Given the description of an element on the screen output the (x, y) to click on. 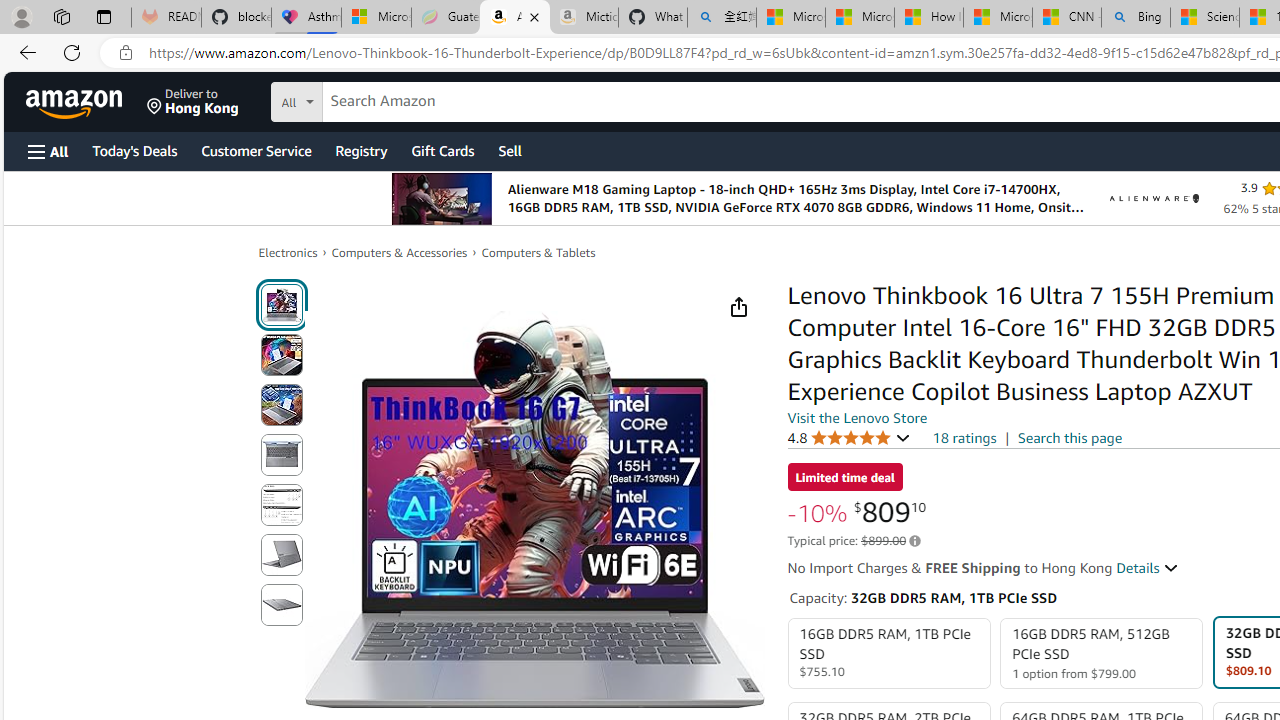
16GB DDR5 RAM, 1TB PCIe SSD $755.10 (888, 653)
Details  (1148, 568)
Amazon (76, 101)
Search this page (1069, 437)
Customer Service (256, 150)
CNN - MSN (1066, 17)
Logo (1153, 198)
